Given the description of an element on the screen output the (x, y) to click on. 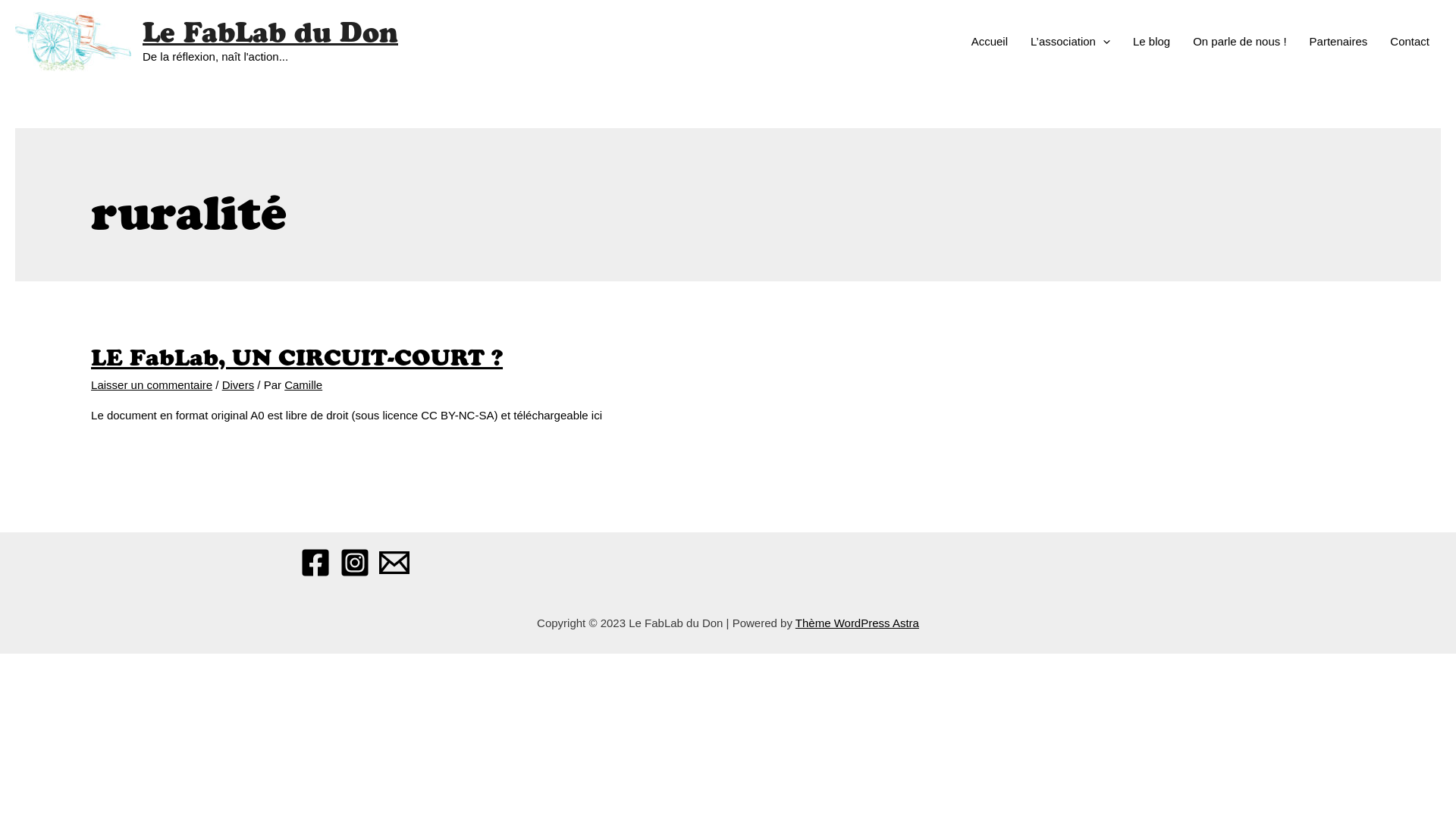
Le FabLab du Don Element type: text (270, 31)
Contact Element type: text (1409, 41)
Le blog Element type: text (1151, 41)
On parle de nous ! Element type: text (1239, 41)
Camille Element type: text (303, 384)
Partenaires Element type: text (1338, 41)
Divers Element type: text (238, 384)
Laisser un commentaire Element type: text (151, 384)
LE FabLab, UN CIRCUIT-COURT ? Element type: text (296, 357)
Accueil Element type: text (989, 41)
